Given the description of an element on the screen output the (x, y) to click on. 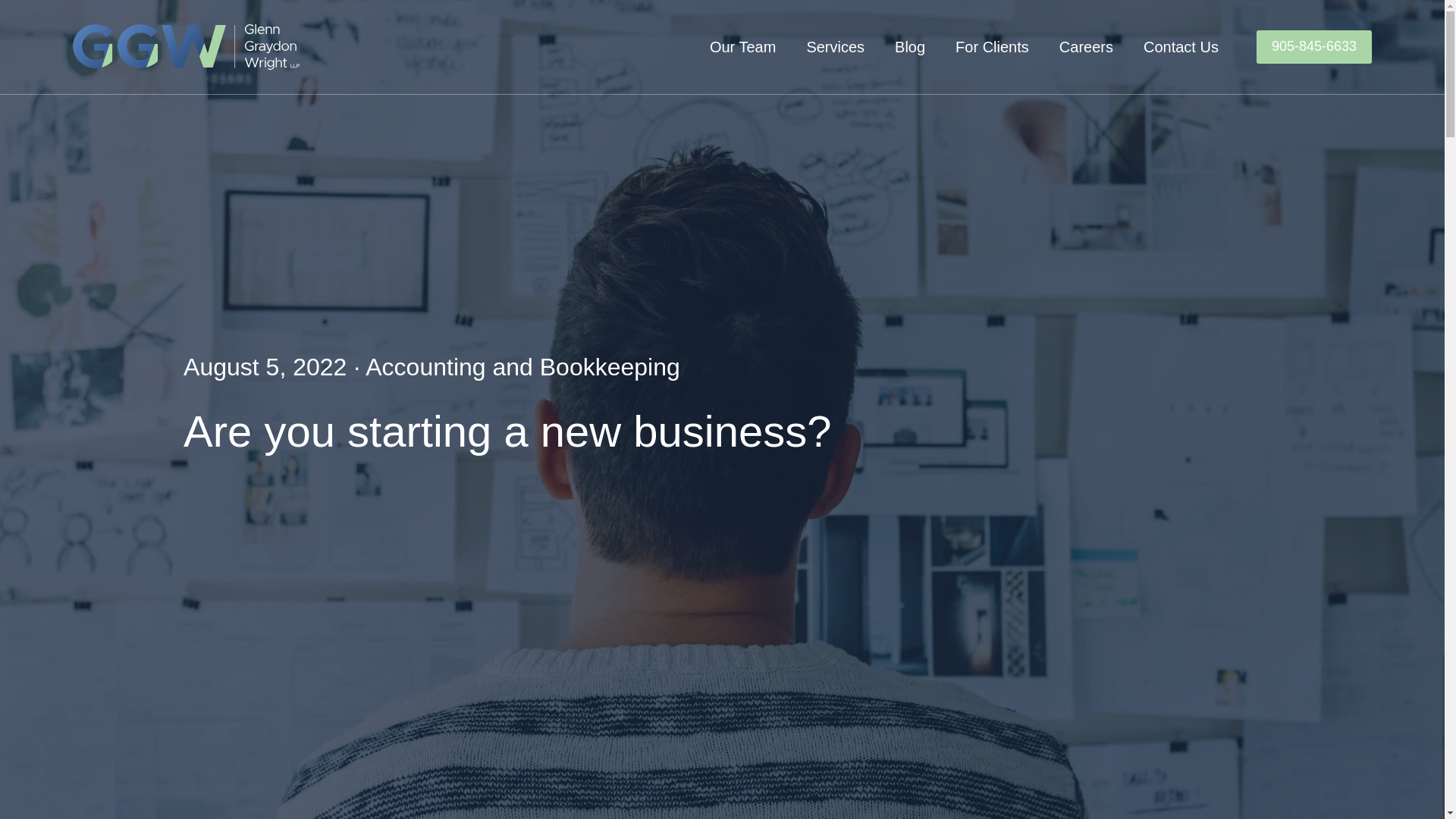
For Clients (992, 46)
Blog (909, 46)
905-845-6633 (1313, 46)
Services (835, 46)
Our Team (743, 46)
Careers (1086, 46)
Contact Us (1180, 46)
